Given the description of an element on the screen output the (x, y) to click on. 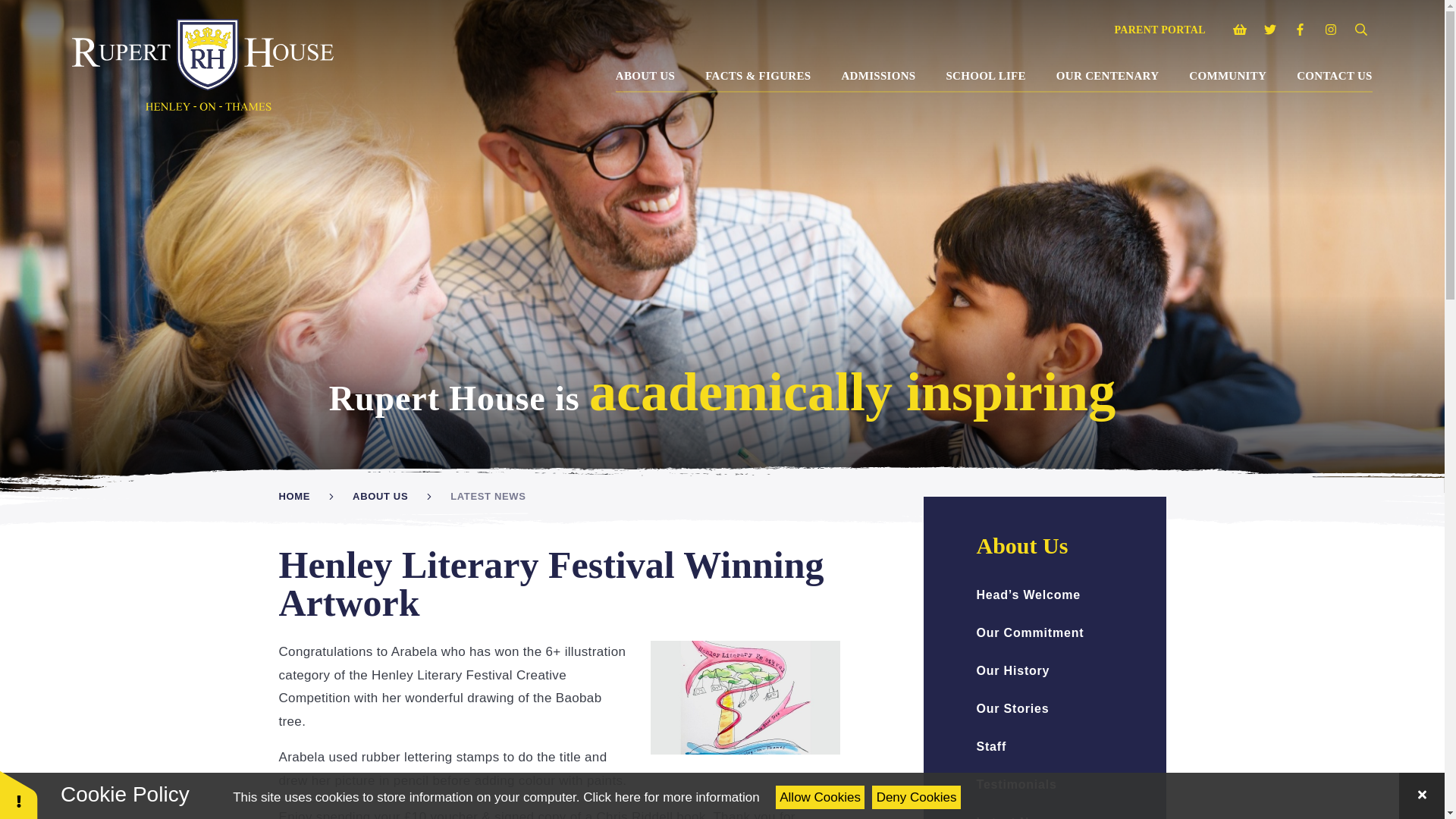
Facebook (1299, 29)
ABOUT US (645, 75)
Deny Cookies (915, 797)
Search (1361, 29)
See cookie policy (670, 797)
Instagram (1330, 29)
Basket (1239, 29)
Allow Cookies (820, 797)
Twitter (1270, 29)
